Given the description of an element on the screen output the (x, y) to click on. 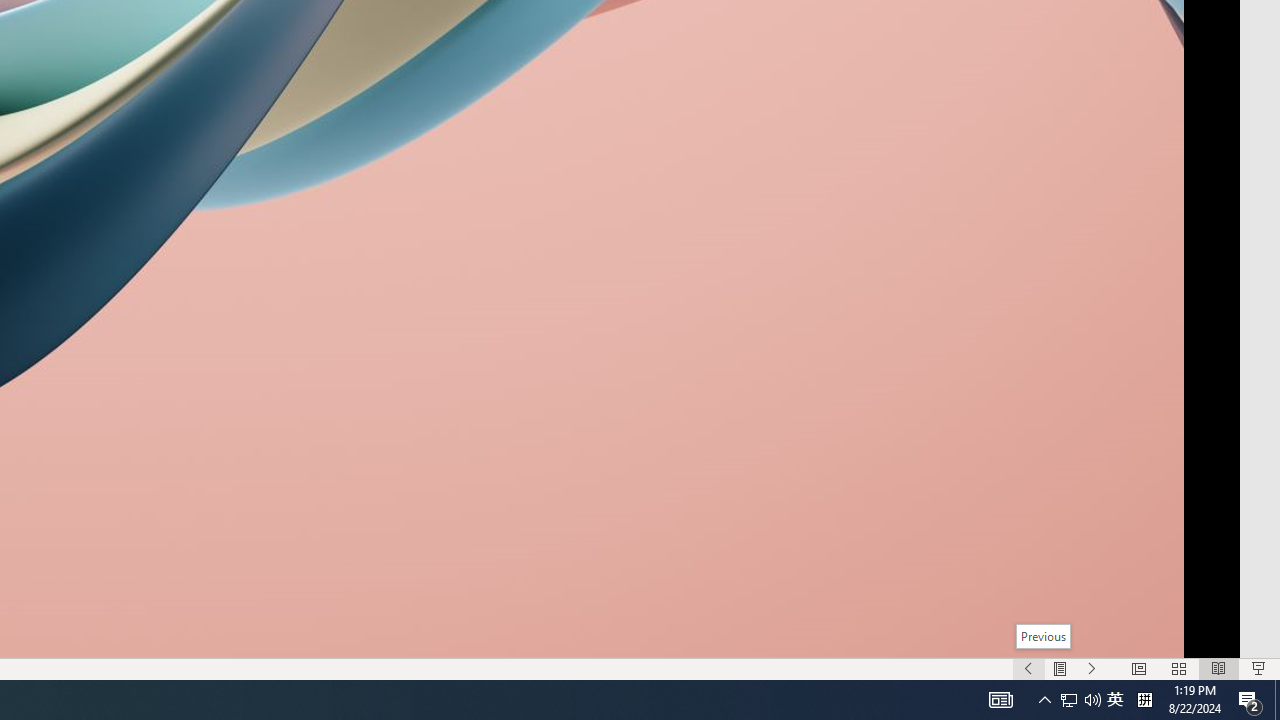
Slide Show Previous On (1028, 668)
Slide Show Next On (1092, 668)
Menu On (1060, 668)
Previous (1043, 636)
